Given the description of an element on the screen output the (x, y) to click on. 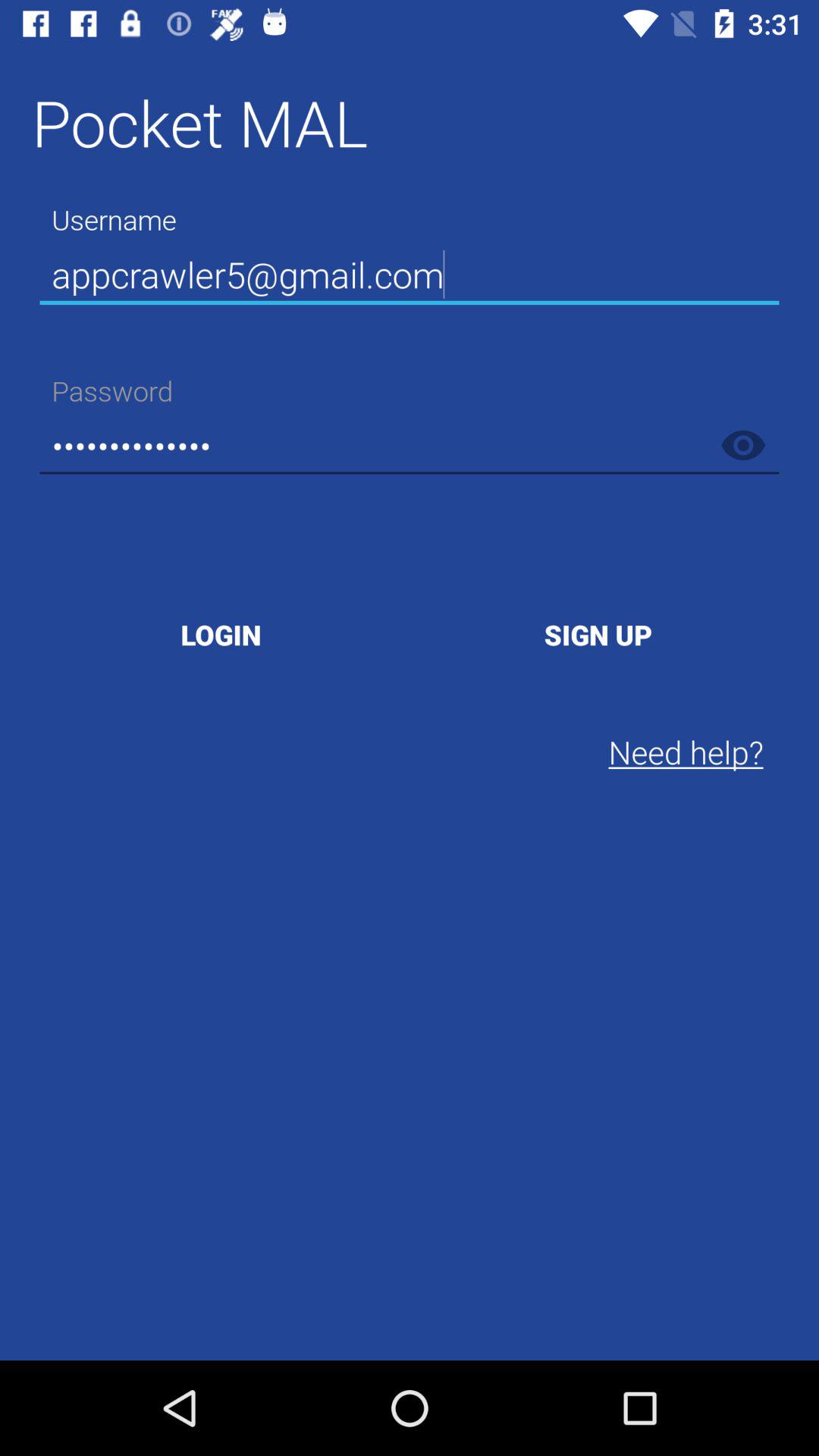
show entered text (743, 445)
